Given the description of an element on the screen output the (x, y) to click on. 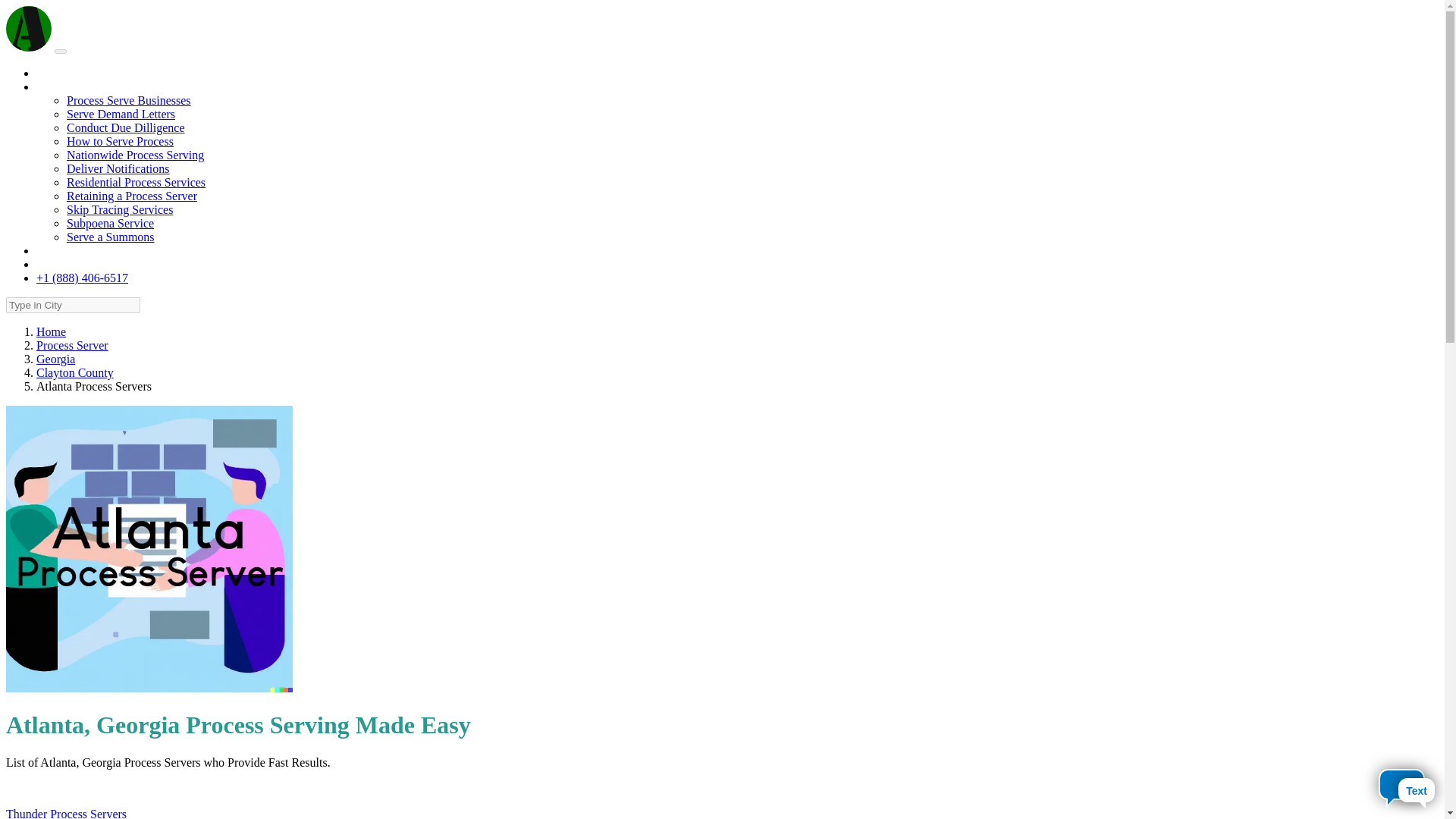
Serve a Summons (110, 236)
Subpoena Service (110, 223)
Deliver Notifications (118, 168)
Serve Demand Letters (120, 113)
Clayton County (74, 372)
Find A Process Server (90, 72)
Thunder Process Servers (65, 813)
Process Serve Businesses (128, 100)
Residential Process Services (135, 182)
List of Services (74, 86)
